Given the description of an element on the screen output the (x, y) to click on. 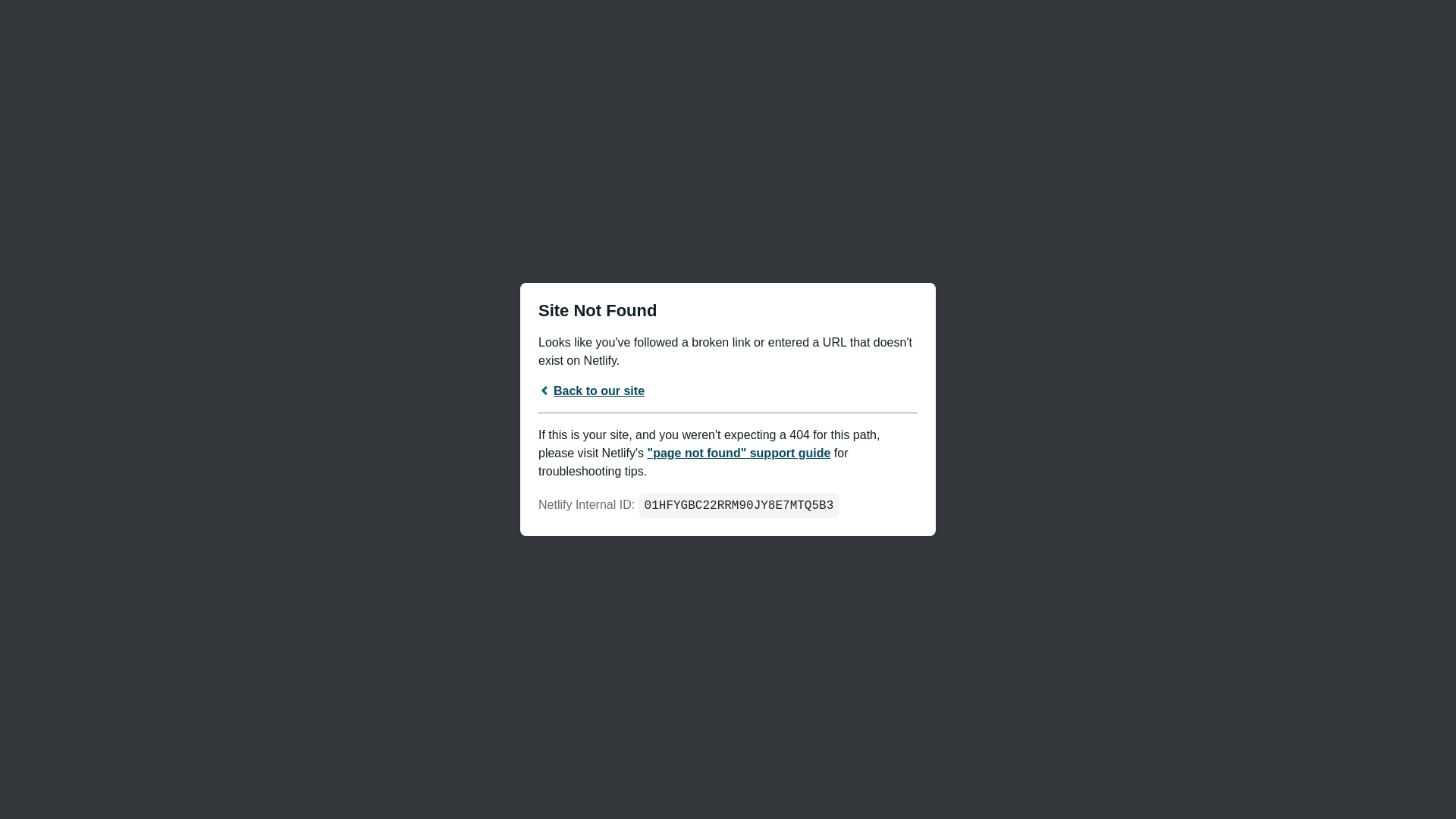
Back to our site Element type: text (591, 390)
"page not found" support guide Element type: text (739, 452)
